Given the description of an element on the screen output the (x, y) to click on. 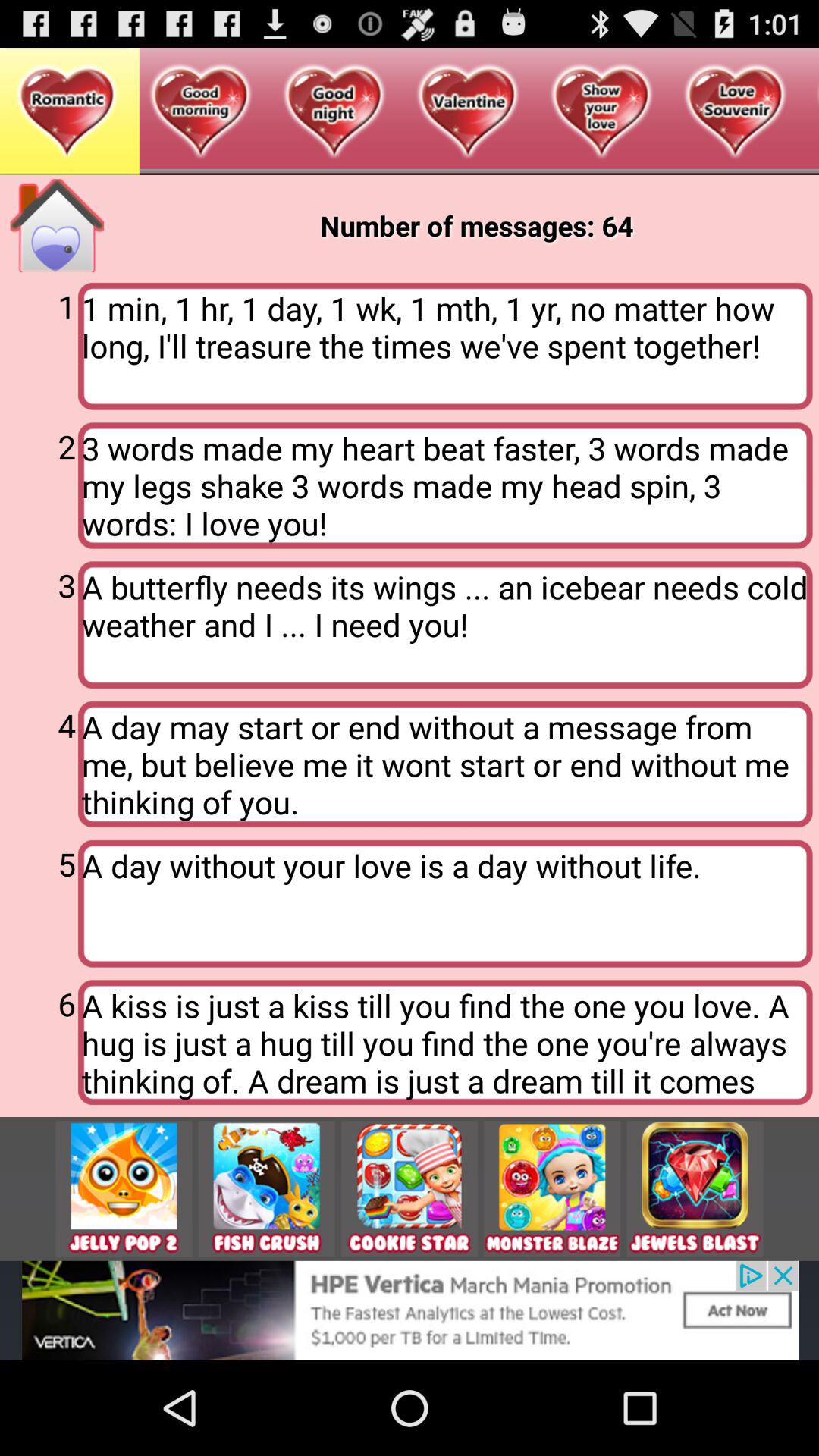
open advertisement (409, 1310)
